Given the description of an element on the screen output the (x, y) to click on. 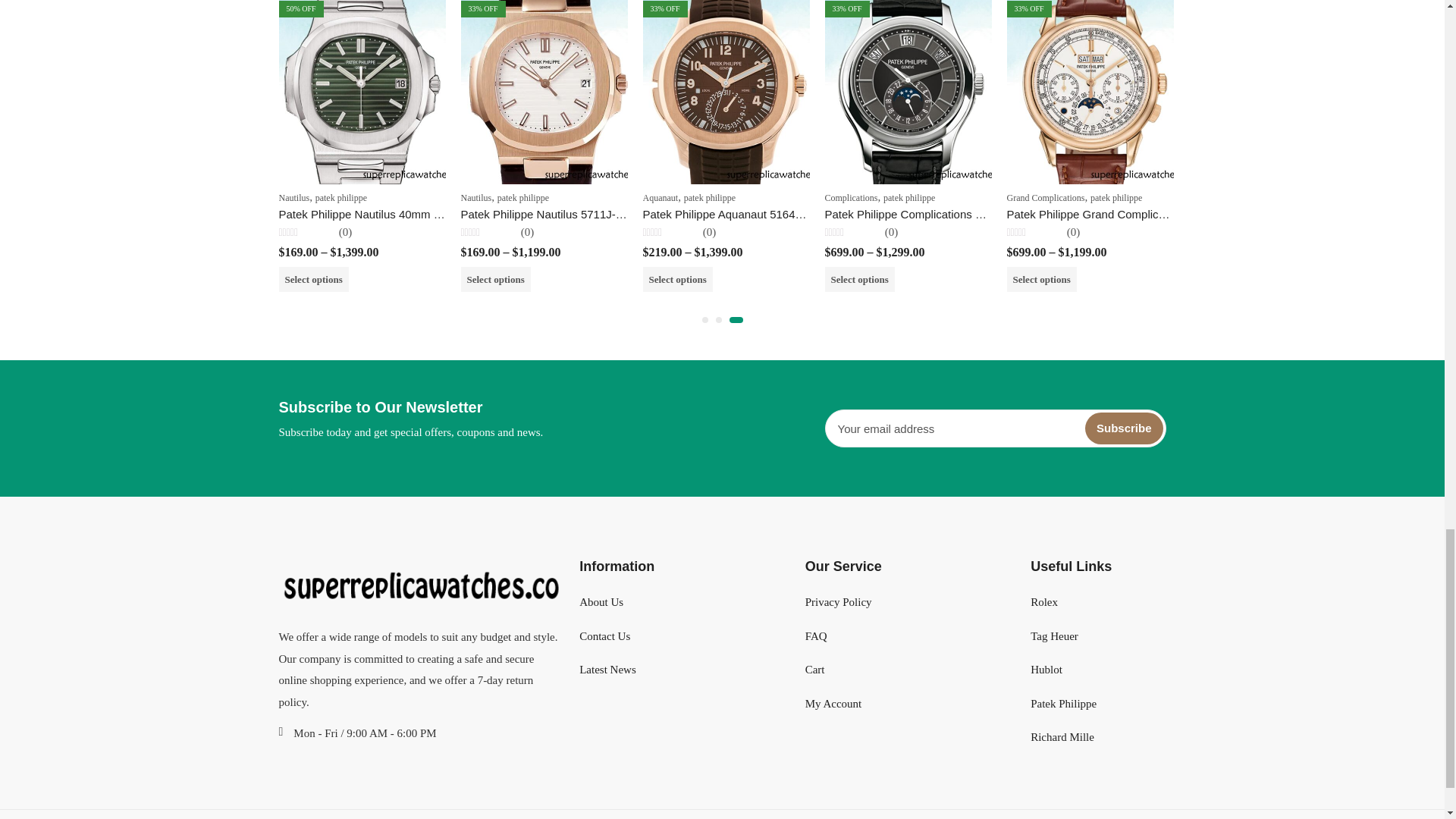
Subscribe (1123, 428)
